Given the description of an element on the screen output the (x, y) to click on. 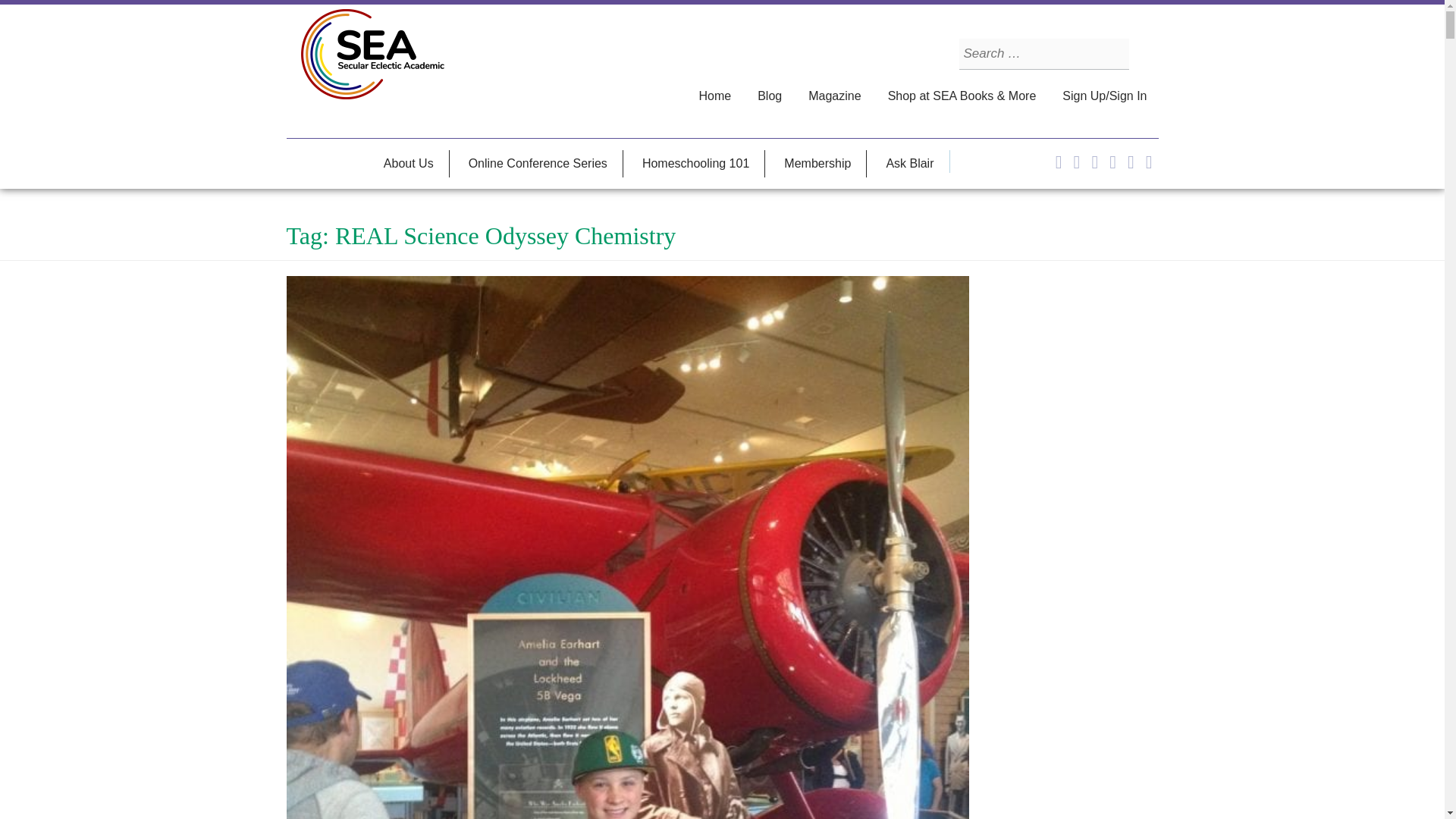
Magazine (834, 95)
Homeschooling 101 (696, 163)
Online Conference Series (537, 163)
Ask Blair (909, 163)
Membership (817, 163)
Home (714, 95)
About Us (408, 163)
SEA Homschoolers (371, 55)
Blog (769, 95)
